Given the description of an element on the screen output the (x, y) to click on. 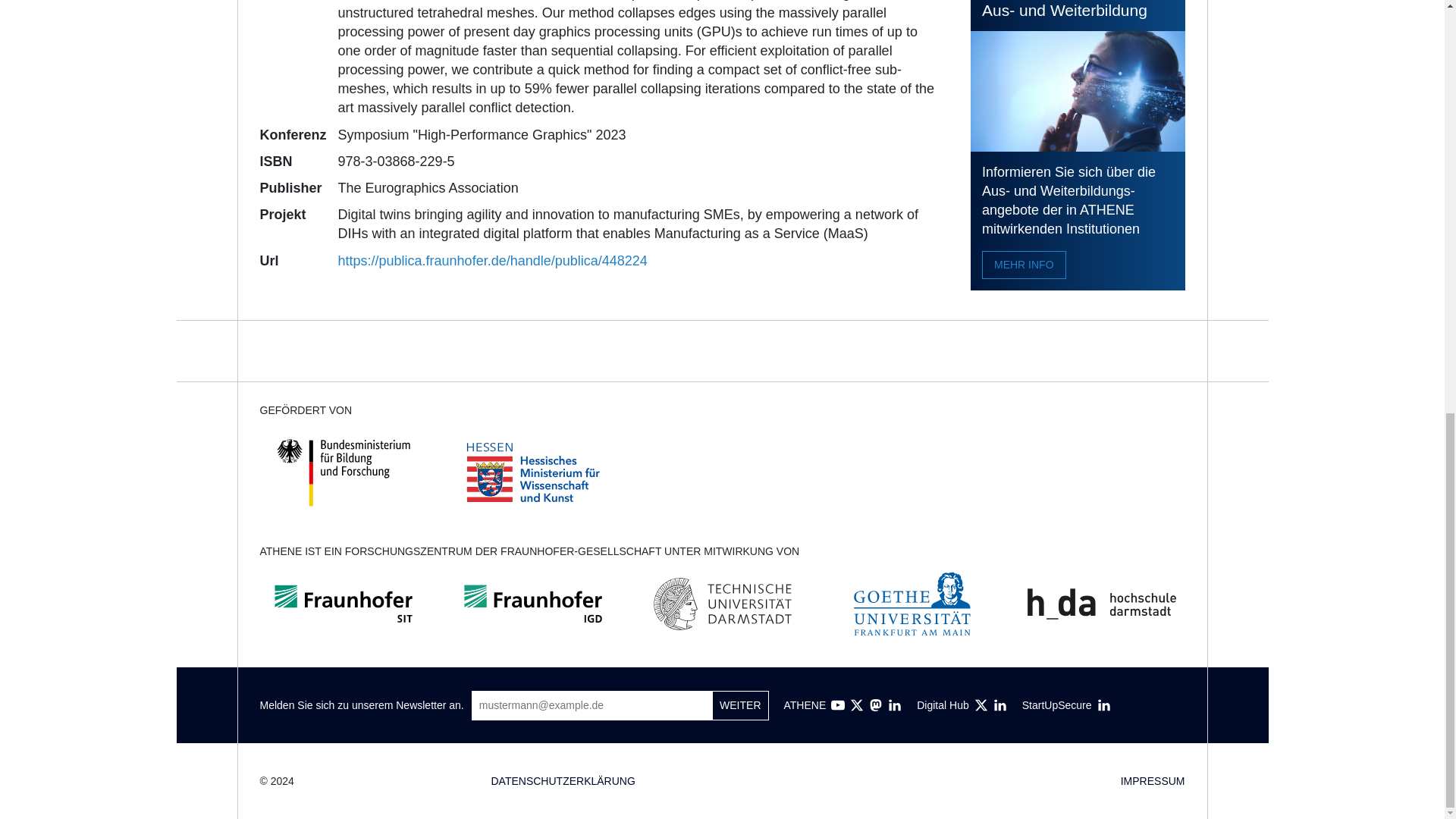
Twitter (856, 704)
LinkedIn (1103, 704)
Mastodon (875, 704)
Twitter (981, 704)
YouTube (837, 704)
LinkedIn (894, 704)
LinkedIn (999, 704)
